Given the description of an element on the screen output the (x, y) to click on. 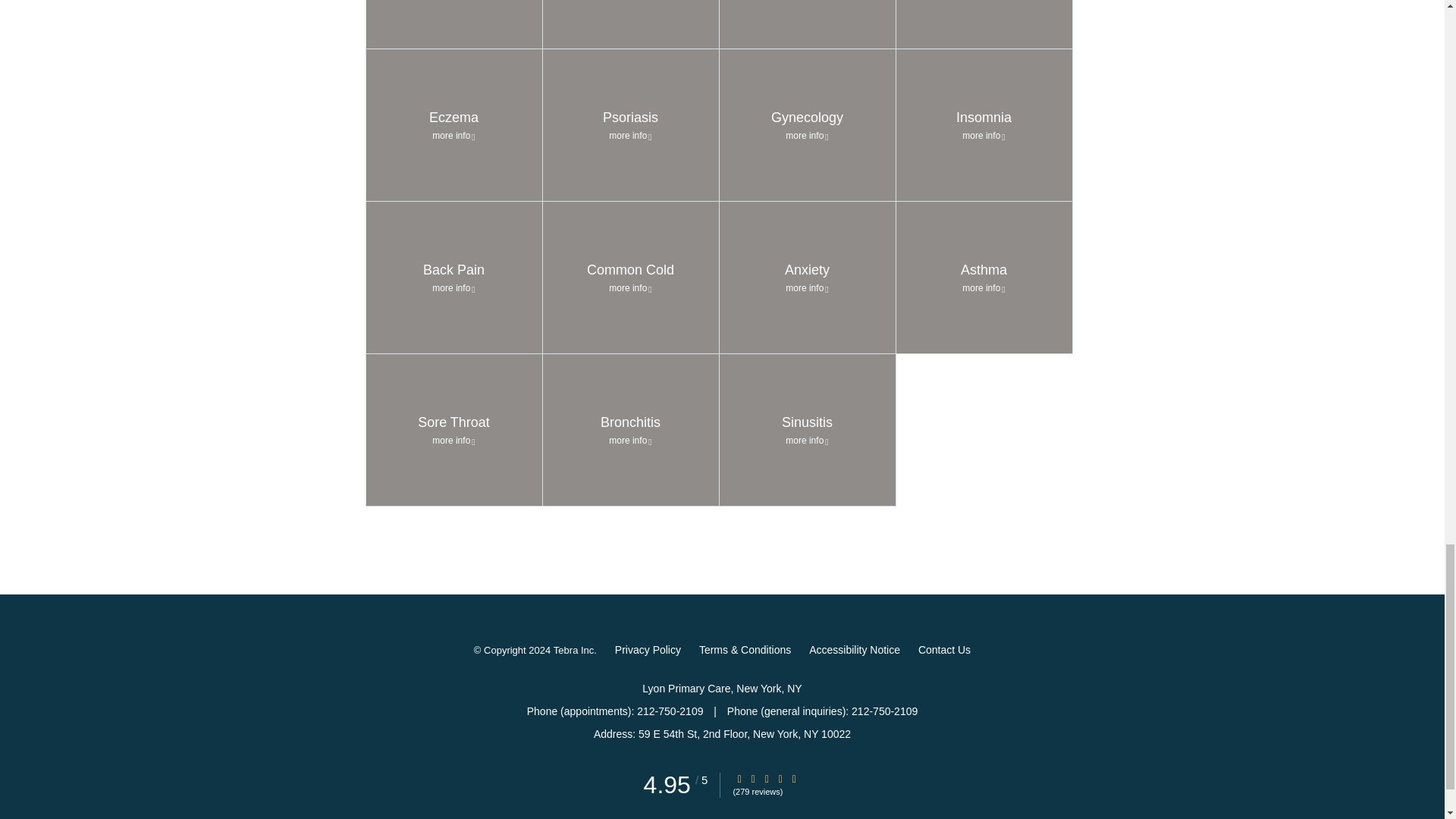
Star Rating (631, 124)
Star Rating (631, 24)
Star Rating (753, 778)
